Given the description of an element on the screen output the (x, y) to click on. 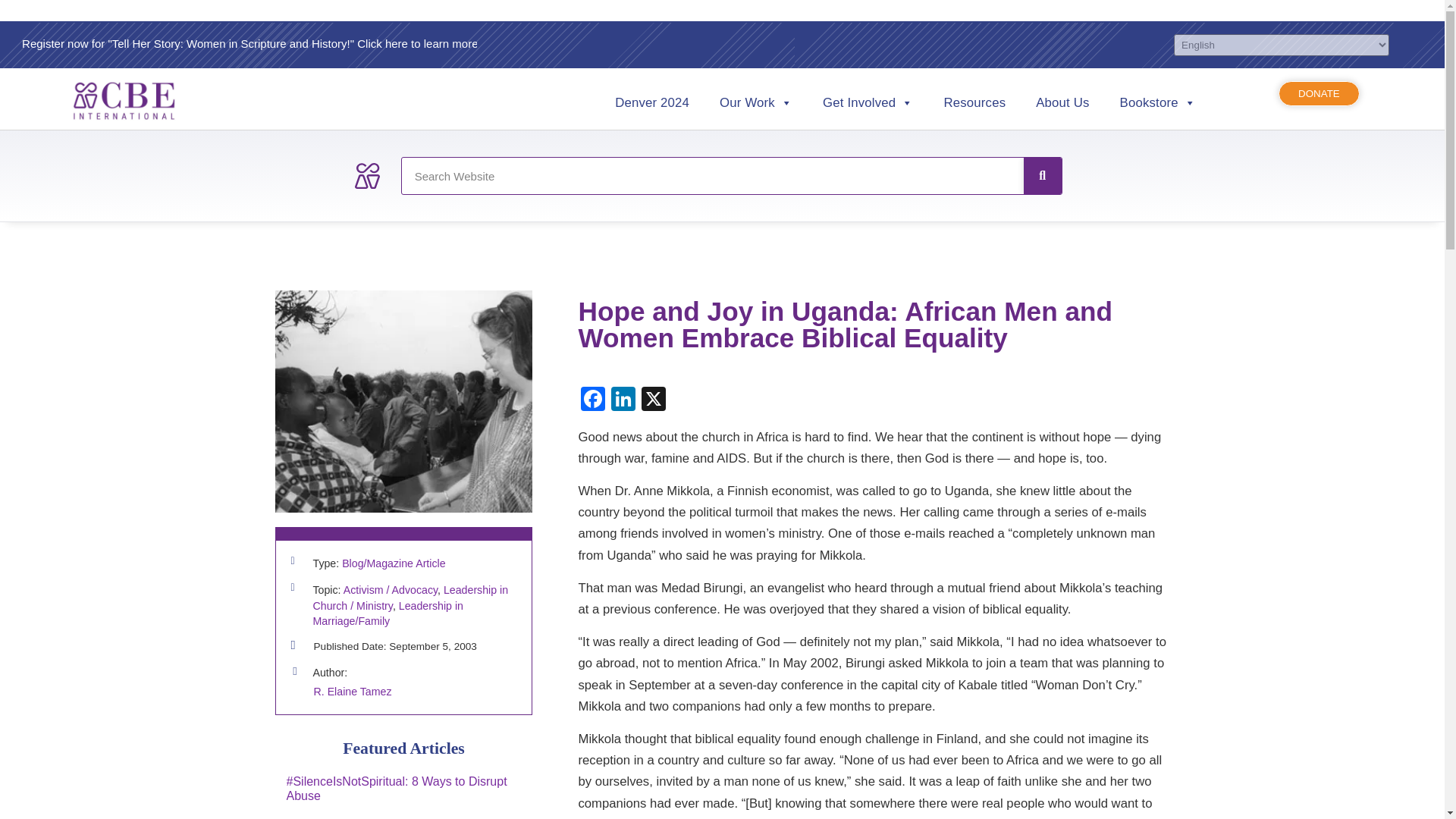
X (653, 400)
Our Work (756, 102)
LinkedIn (623, 400)
Facebook (593, 400)
Get Involved (868, 102)
Denver 2024 (651, 102)
